Given the description of an element on the screen output the (x, y) to click on. 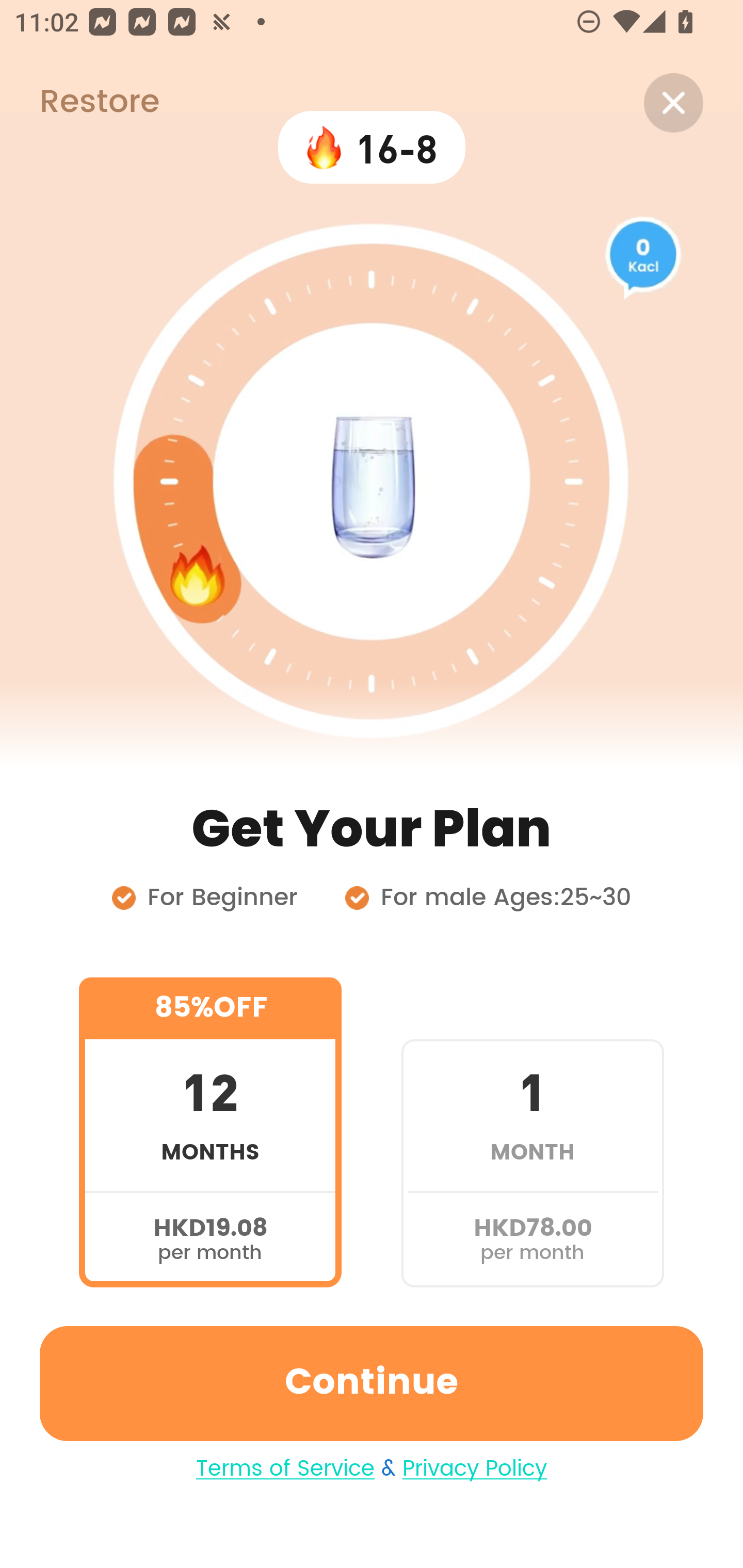
Restore (79, 102)
85%OFF 12 MONTHS per month HKD19.08 (209, 1131)
1 MONTH per month HKD78.00 (532, 1131)
Continue (371, 1383)
